Given the description of an element on the screen output the (x, y) to click on. 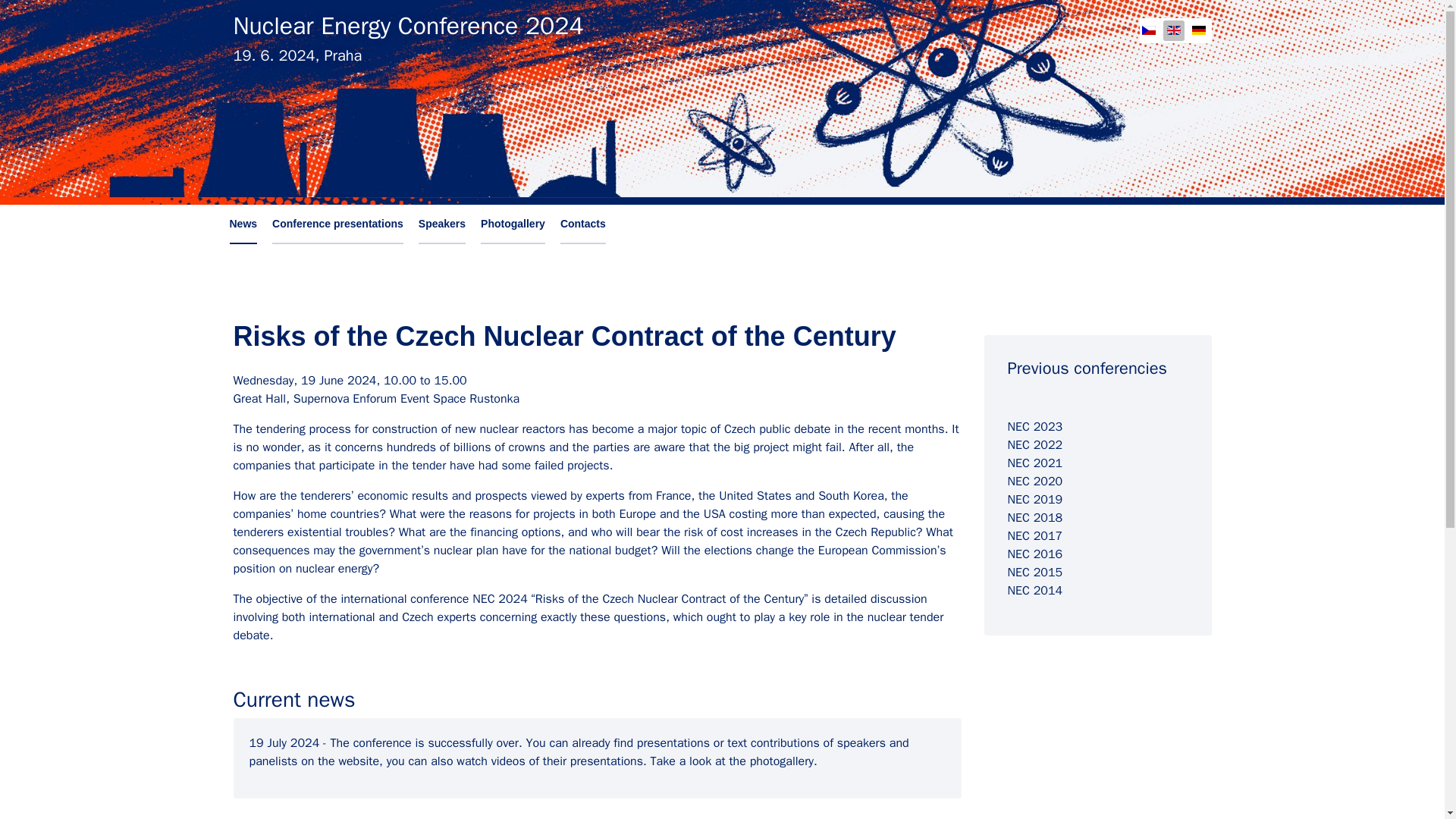
videos of their presentations (567, 761)
NEC 2021 (1034, 462)
photogallery (781, 761)
Nuclear Energy Conference 2024 (407, 25)
NEC 2016 (1034, 554)
presentations or text contributions (728, 743)
Conference presentations (337, 224)
Contacts (582, 224)
NEC 2019 (1034, 499)
NEC 2017 (1034, 535)
NEC 2022 (1034, 444)
NEC 2018 (1034, 517)
NEC 2023 (1034, 426)
Photogallery (512, 224)
NEC 2020 (1034, 481)
